Given the description of an element on the screen output the (x, y) to click on. 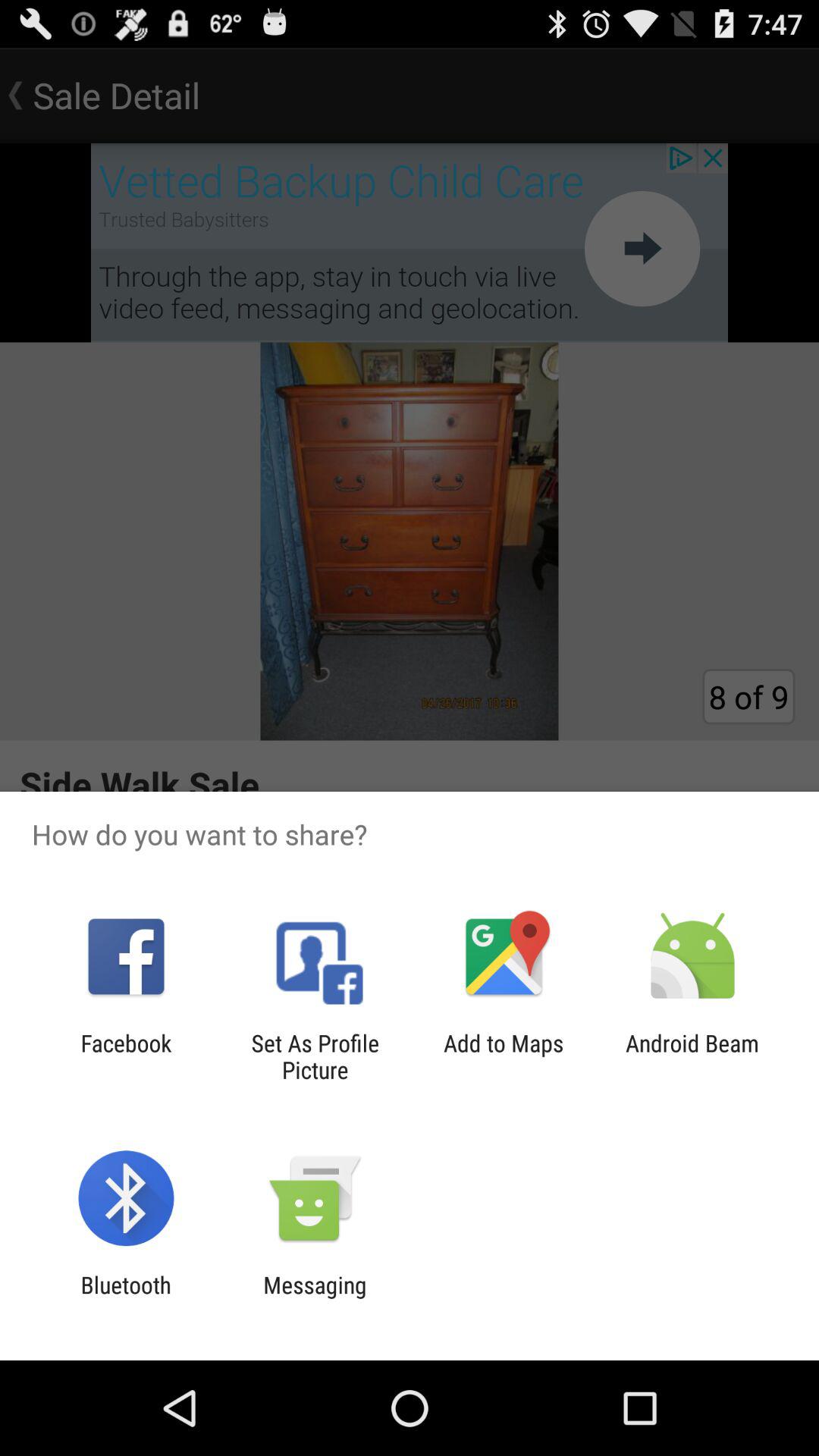
turn on the icon next to android beam icon (503, 1056)
